Given the description of an element on the screen output the (x, y) to click on. 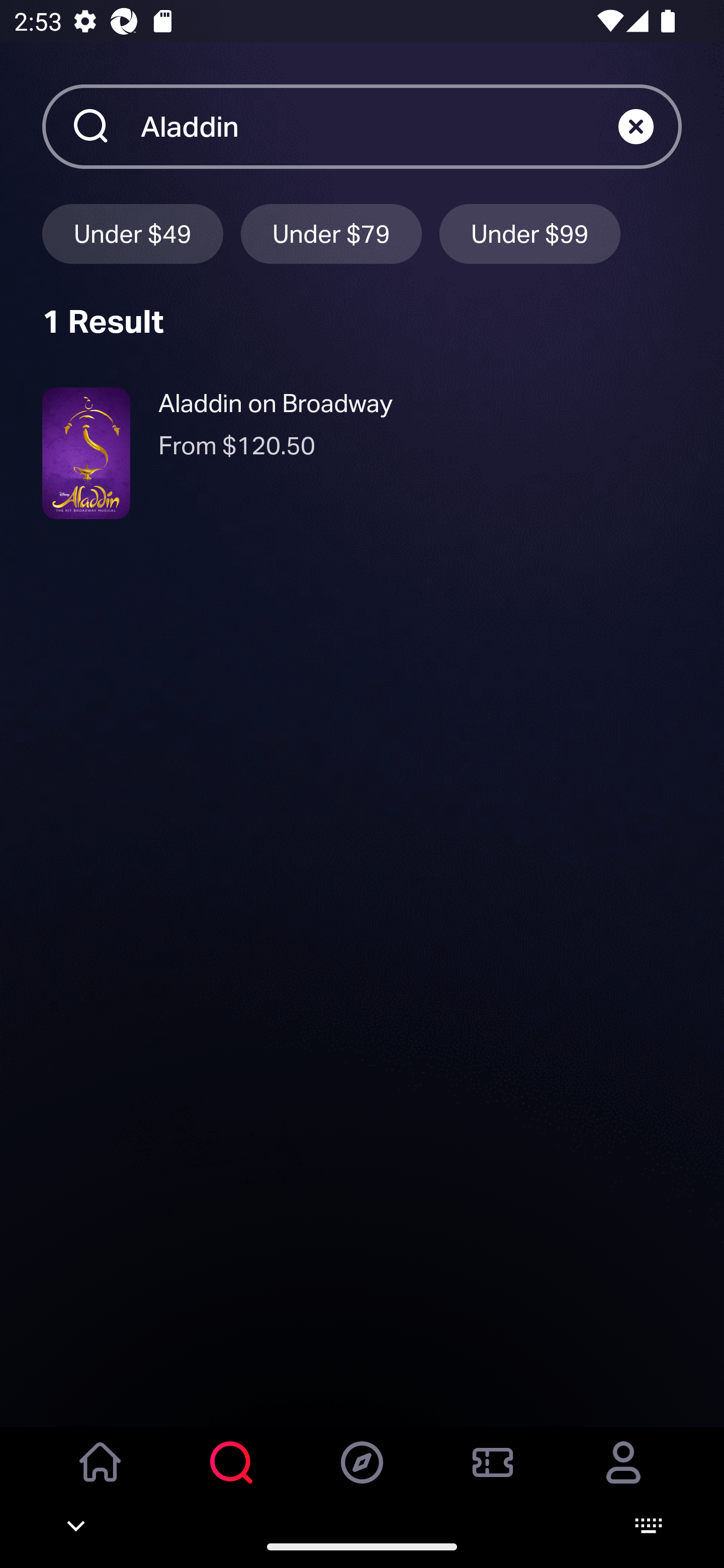
Aladdin (379, 126)
Under $49 (131, 233)
Under $79 (331, 233)
Under $99 (529, 233)
Home (100, 1475)
Discover (361, 1475)
Orders (492, 1475)
Account (623, 1475)
